Given the description of an element on the screen output the (x, y) to click on. 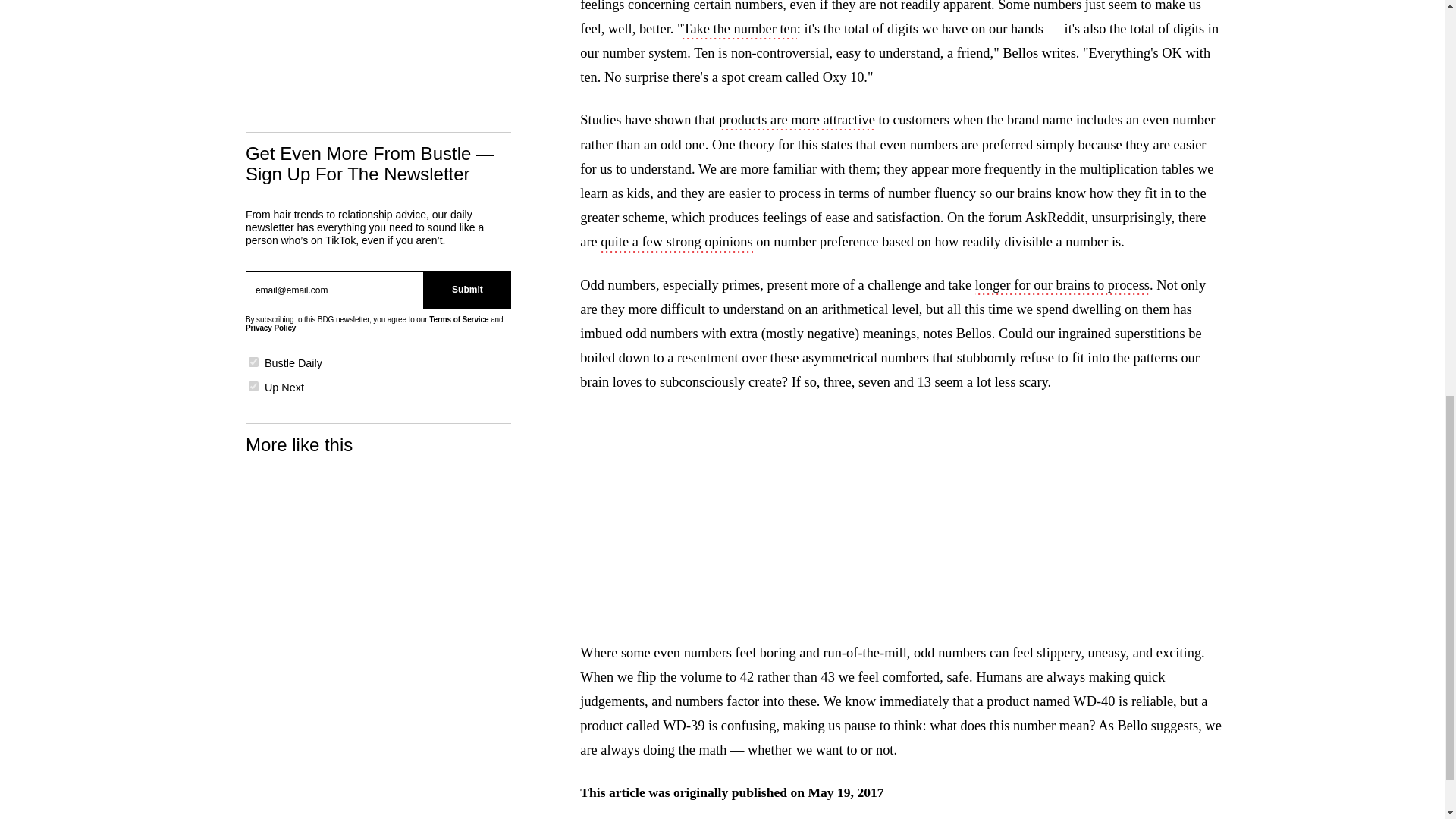
Terms of Service (458, 319)
Submit (467, 289)
quite a few strong opinions (675, 243)
Privacy Policy (270, 327)
products are more attractive (797, 121)
longer for our brains to process (1062, 286)
Take the number ten (739, 30)
